Given the description of an element on the screen output the (x, y) to click on. 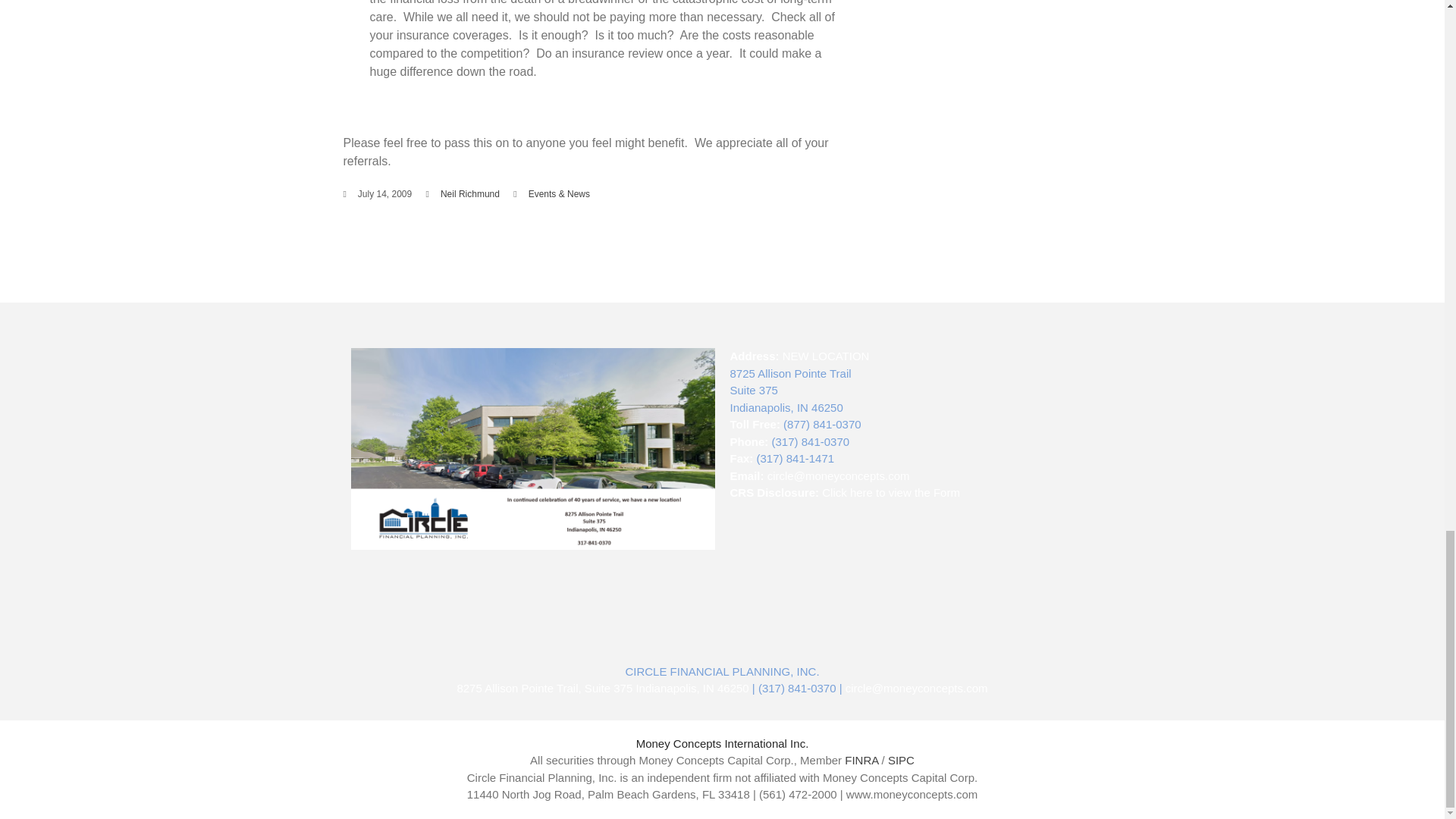
View all posts by Neil Richmund (470, 194)
